Given the description of an element on the screen output the (x, y) to click on. 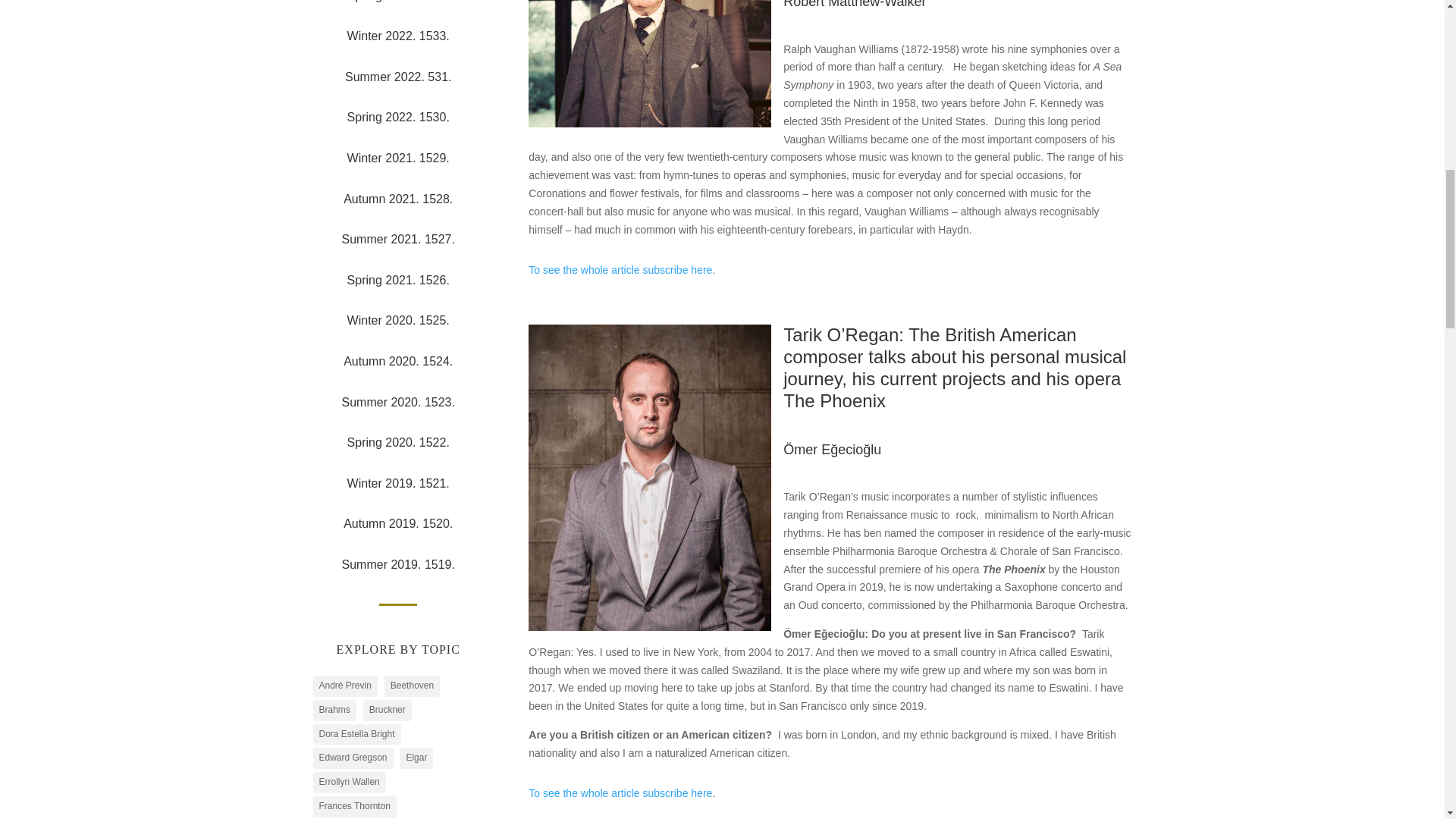
Autumn 2019. 1520. (397, 522)
Summer 2021. 1527. (397, 238)
Summer 2020. 1523. (397, 401)
Autumn 2020. 1524. (397, 360)
Winter 2019. 1521. (398, 482)
Spring 2021. 1526. (398, 279)
Winter 2022. 1533. (398, 35)
Summer 2022. 531. (398, 76)
Autumn 2021. 1528. (397, 198)
Spring 2023. 1534. (398, 1)
